Given the description of an element on the screen output the (x, y) to click on. 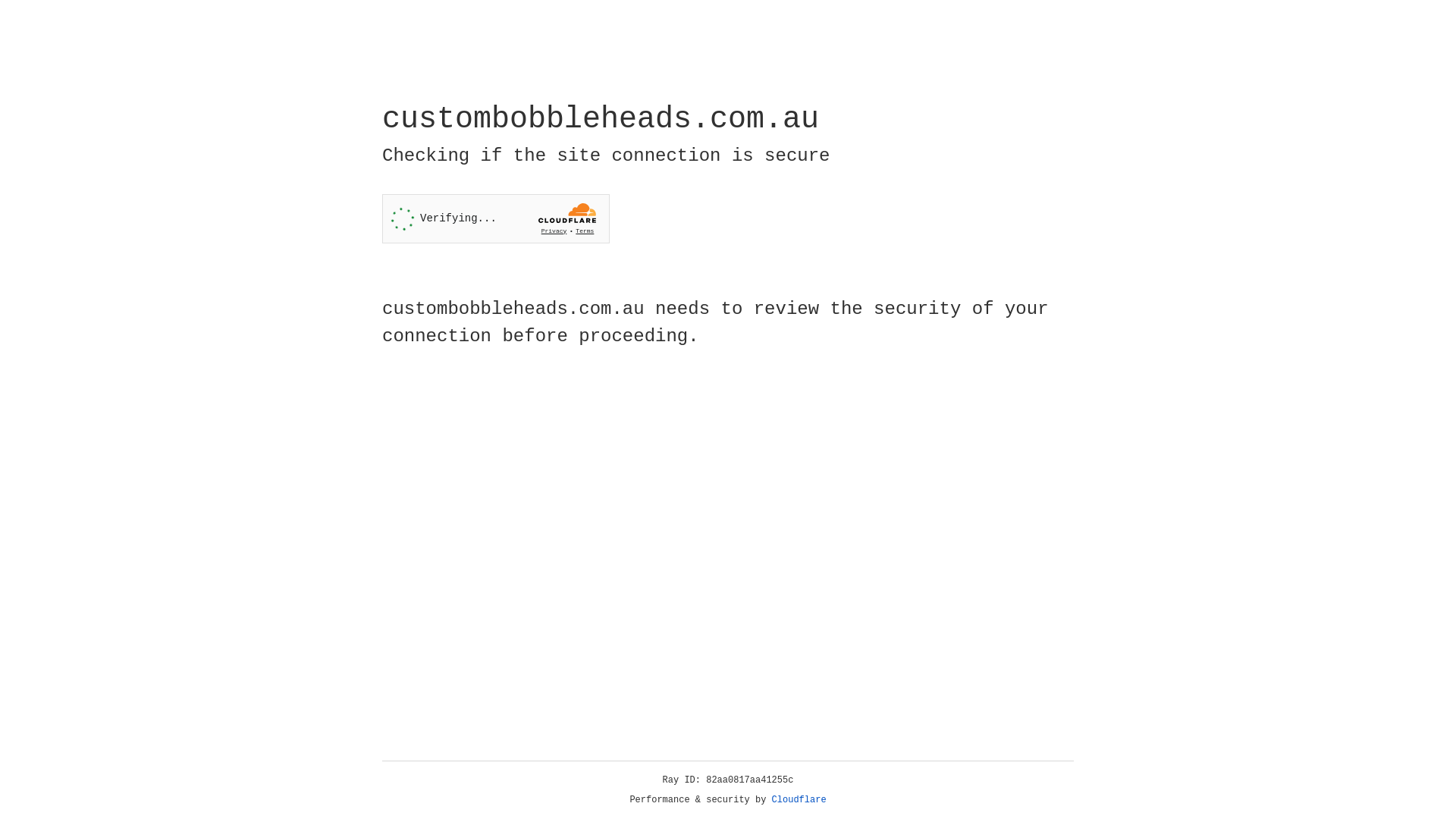
Cloudflare Element type: text (798, 799)
Widget containing a Cloudflare security challenge Element type: hover (495, 218)
